Given the description of an element on the screen output the (x, y) to click on. 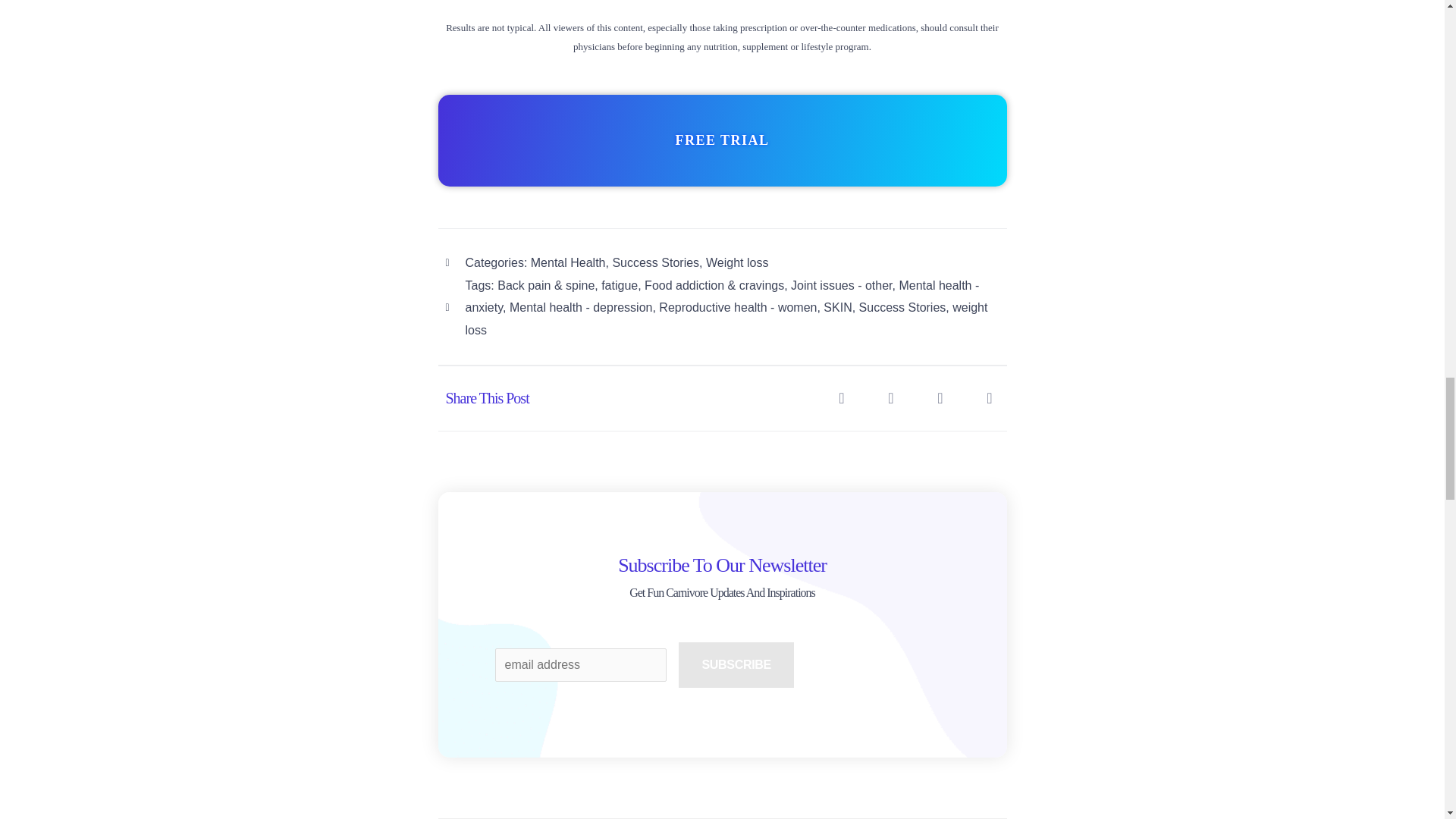
Subscribe (735, 664)
Mental Health (568, 262)
Success Stories (654, 262)
FREE TRIAL (721, 140)
Weight loss (737, 262)
fatigue (619, 285)
